Given the description of an element on the screen output the (x, y) to click on. 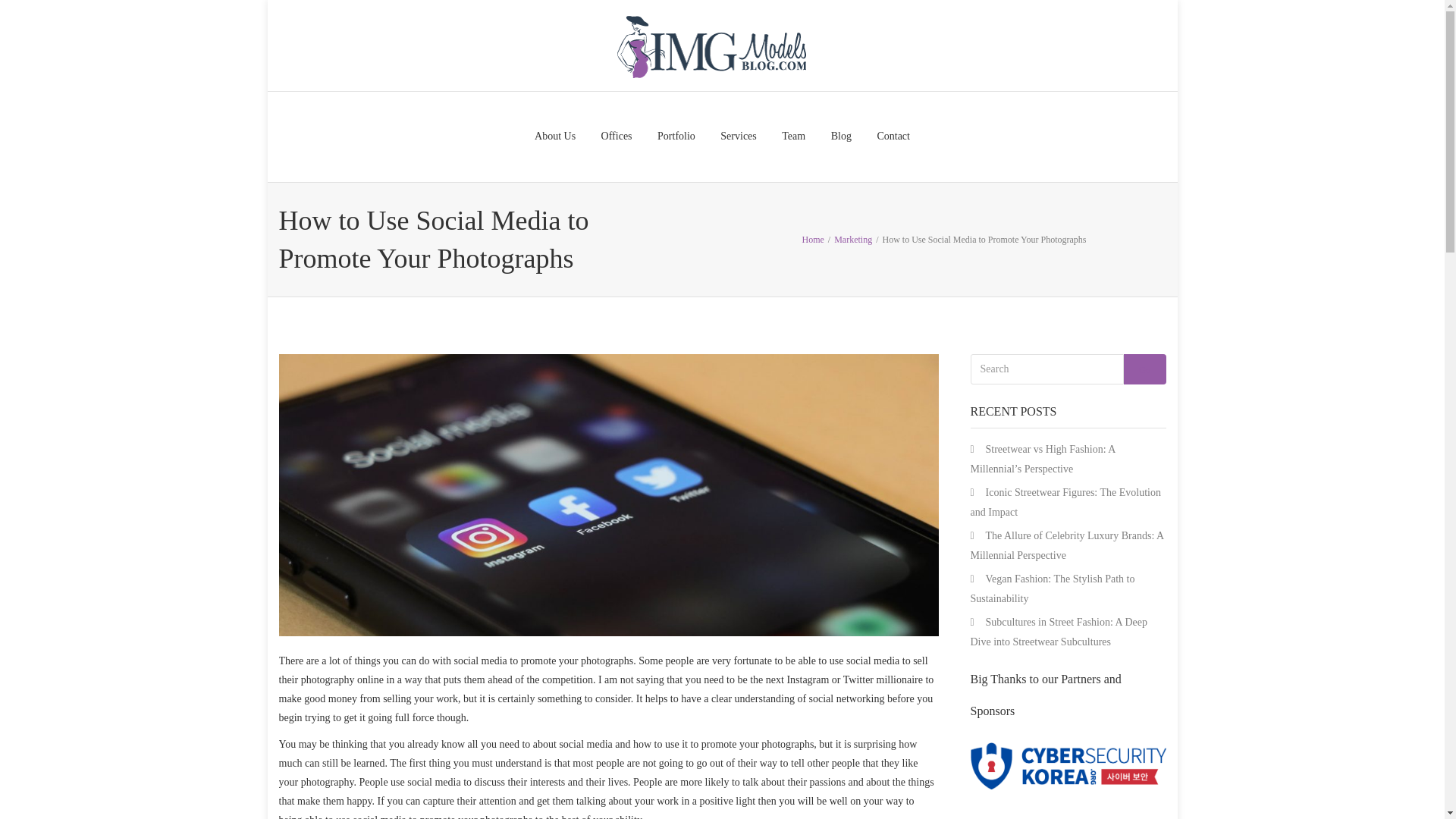
Marketing (853, 238)
Vegan Fashion: The Stylish Path to Sustainability (1053, 588)
Iconic Streetwear Figures: The Evolution and Impact (1065, 501)
IMG Models Blog -  (710, 45)
Home (813, 238)
Go (1145, 368)
